Given the description of an element on the screen output the (x, y) to click on. 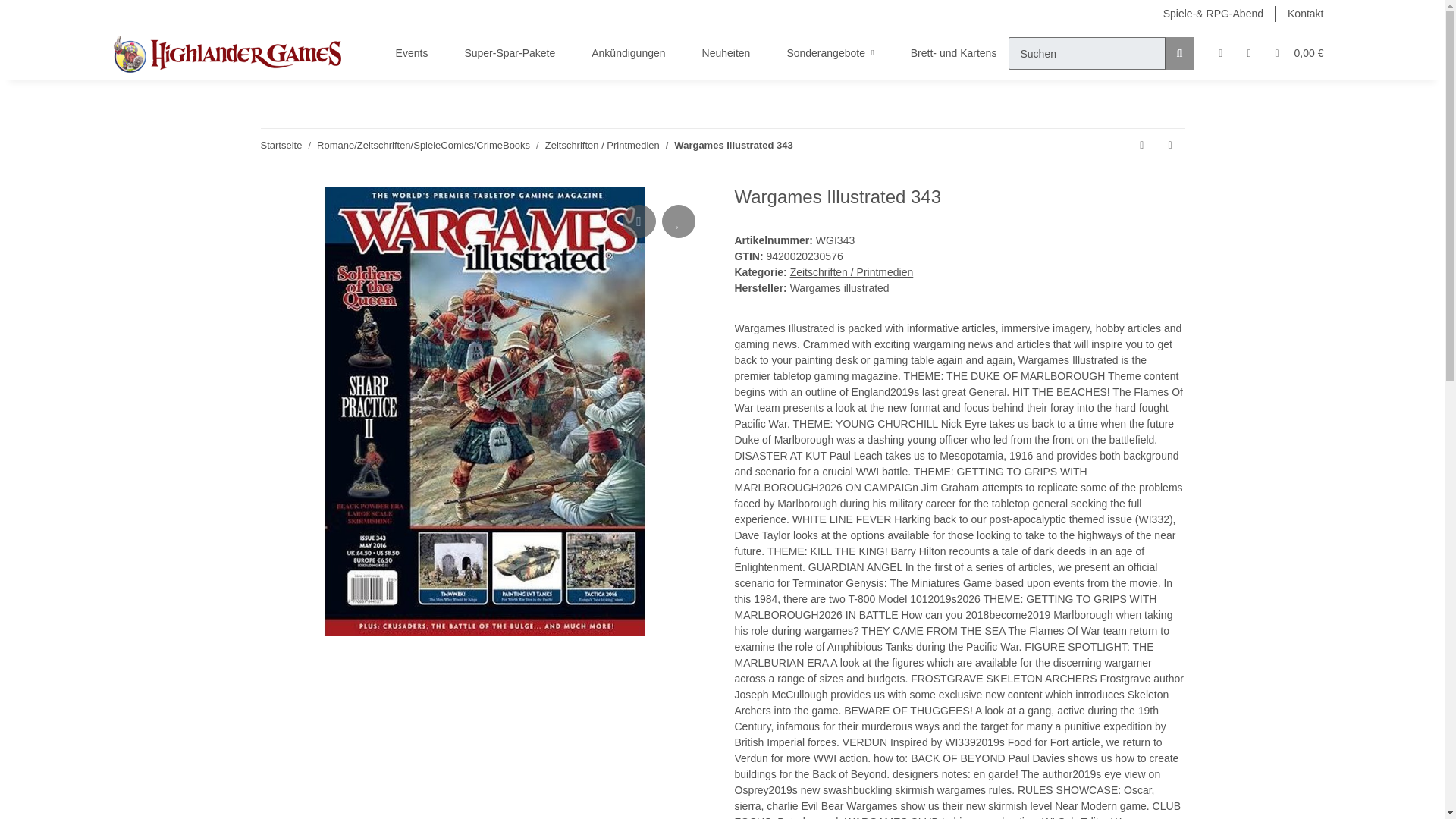
Events (411, 53)
Super-Spar-Pakete (509, 53)
Events (411, 53)
Games Workshop (1360, 53)
Neuheiten (726, 53)
Brett- und Kartenspiele (969, 53)
Sonderangebote (829, 53)
Super-Spar-Pakete (509, 53)
Sonderangebote (829, 53)
Kontaktformular (1305, 13)
Rollenspiel (1246, 53)
Neuheiten (726, 53)
Rollenspiel (1246, 53)
Neuheiten (726, 53)
Brett- und Kartenspiele (969, 53)
